Given the description of an element on the screen output the (x, y) to click on. 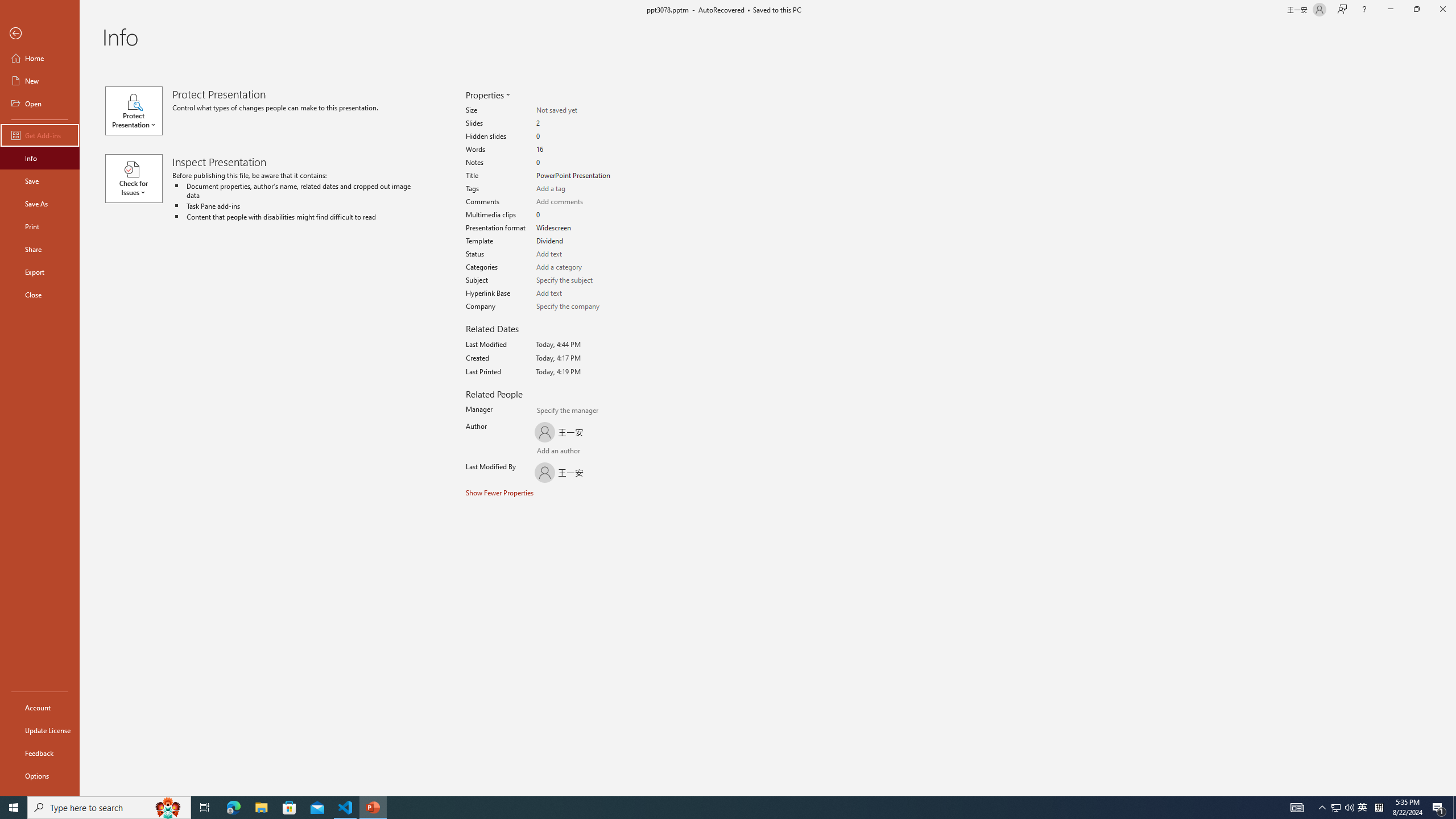
Properties (486, 94)
Template (575, 240)
Size (575, 110)
Title (575, 175)
Save As (40, 203)
Check for Issues (137, 178)
Add an author (542, 451)
Update License (40, 730)
Categories (575, 267)
Get Add-ins (40, 134)
Print (40, 225)
